Given the description of an element on the screen output the (x, y) to click on. 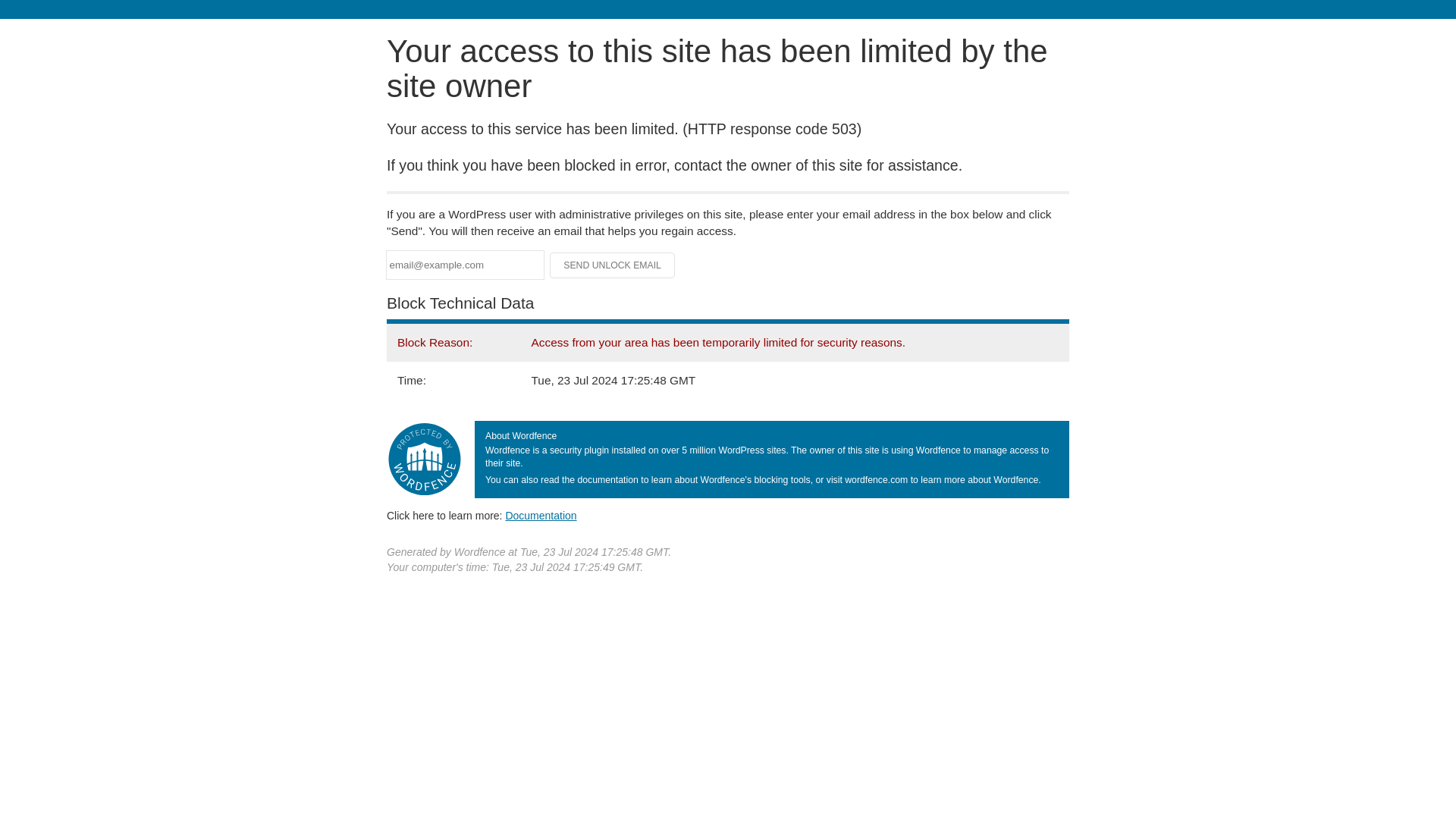
Documentation (540, 515)
Send Unlock Email (612, 265)
Send Unlock Email (612, 265)
